Given the description of an element on the screen output the (x, y) to click on. 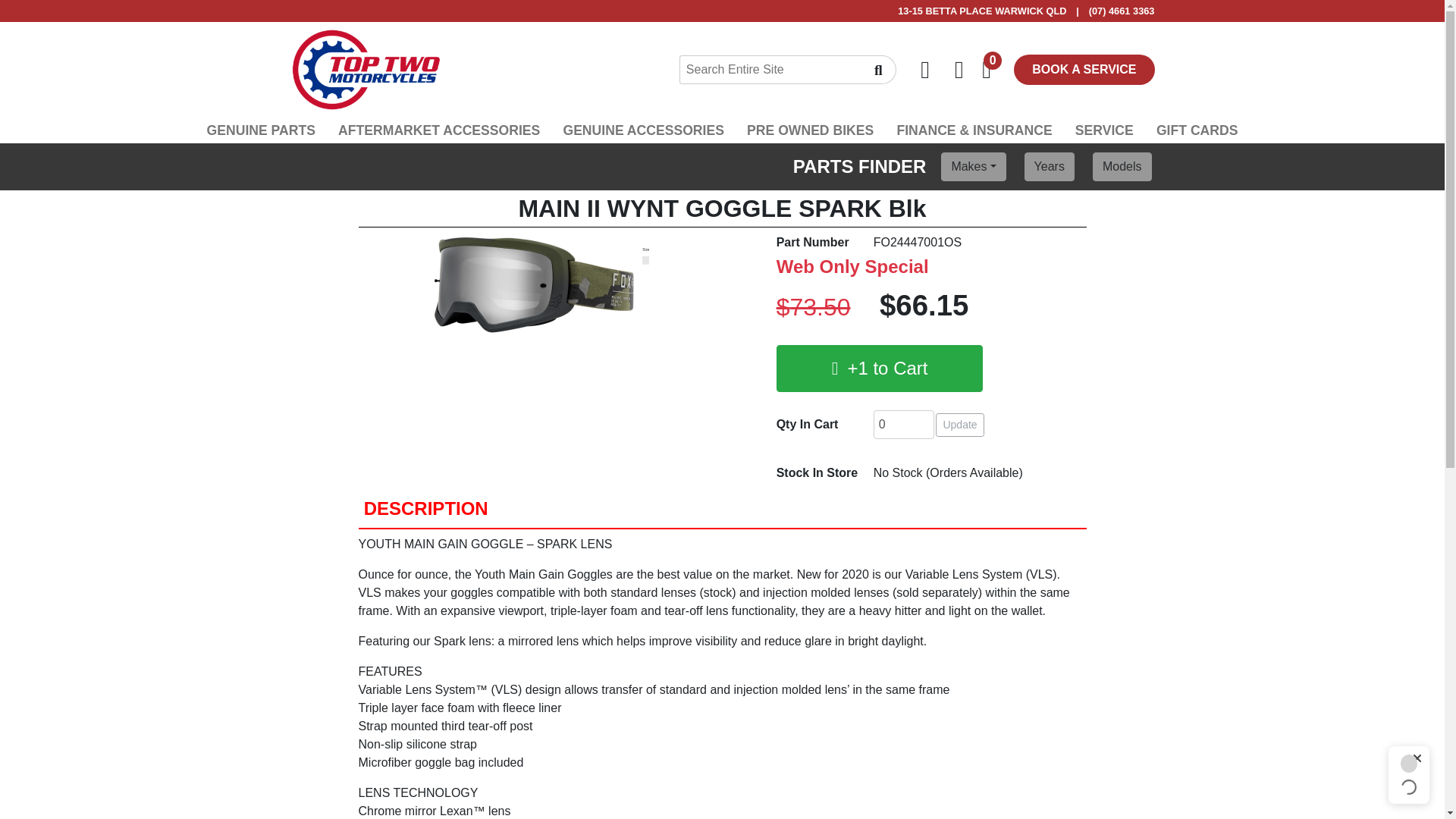
GENUINE ACCESSORIES (643, 129)
Update (960, 424)
GENUINE PARTS (260, 129)
Years (1049, 166)
Models (1122, 166)
AFTERMARKET ACCESSORIES (438, 129)
PARTS FINDER (850, 166)
Makes (973, 166)
Login (958, 69)
0 (903, 424)
